Given the description of an element on the screen output the (x, y) to click on. 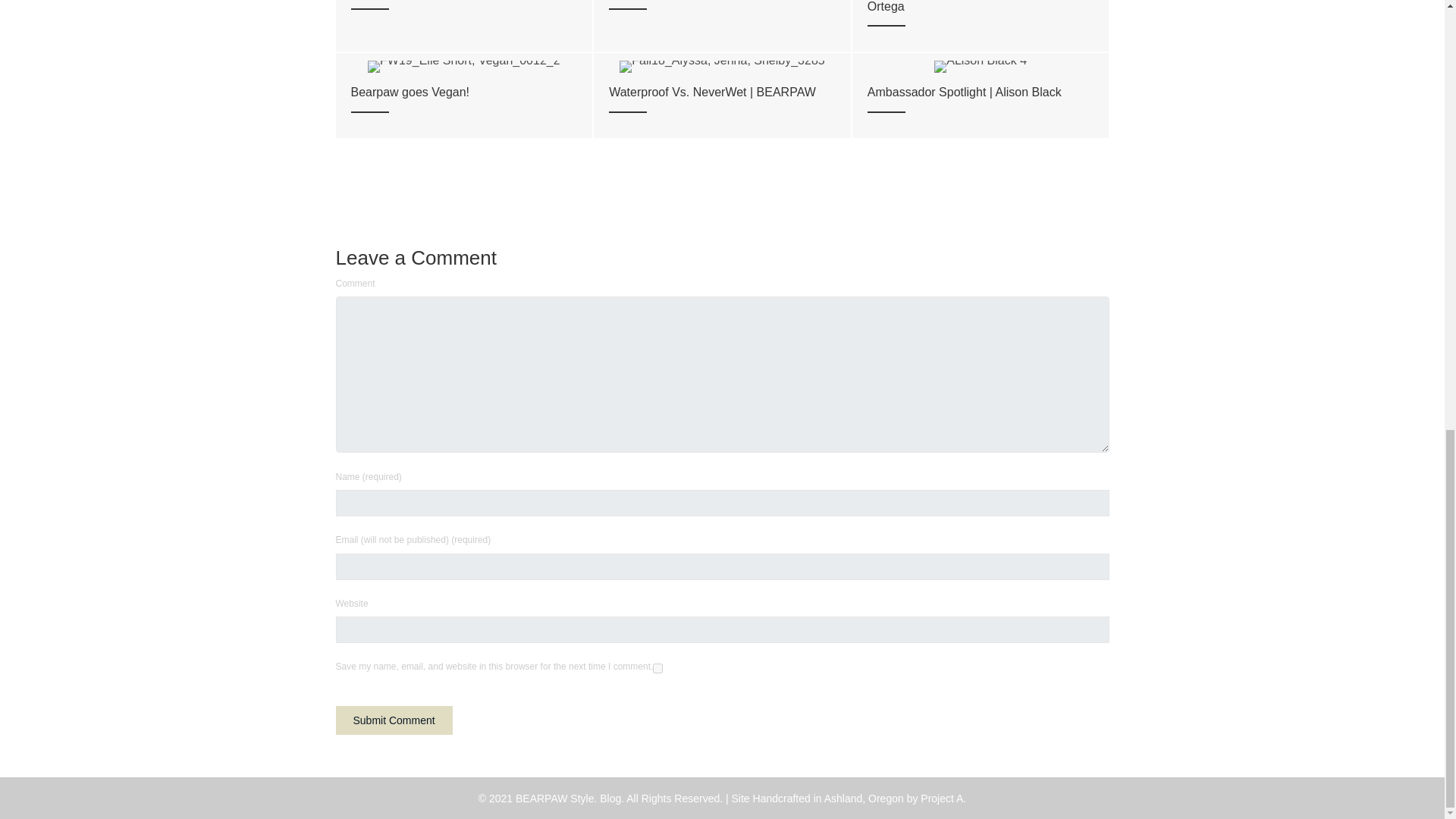
yes (657, 668)
Submit Comment (392, 720)
Plush Pastels (463, 25)
Bearpaw goes Vegan! (463, 95)
10 Tips for Beginner Hikers with Monica Ortega (980, 25)
